Given the description of an element on the screen output the (x, y) to click on. 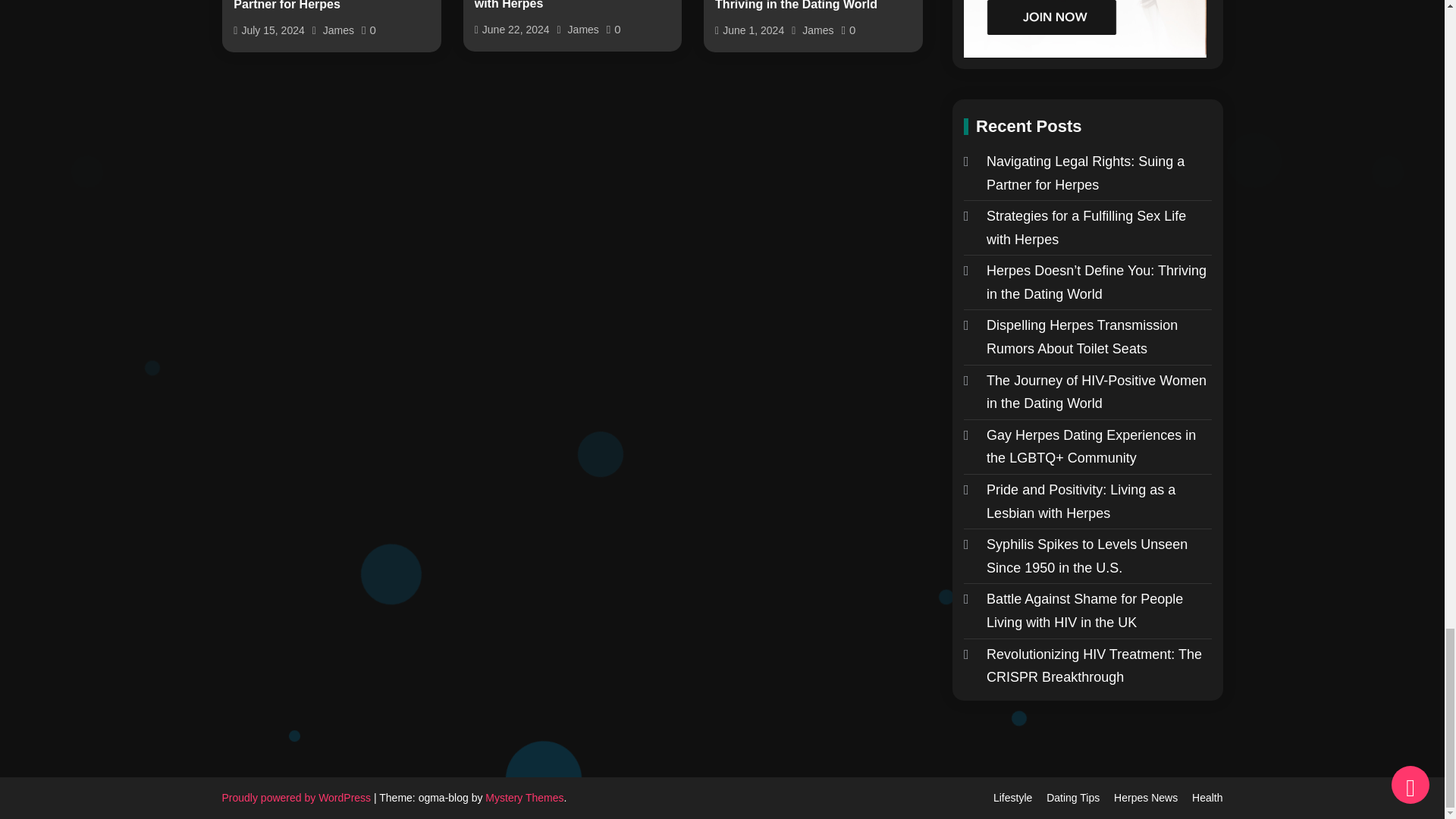
James (338, 30)
June 1, 2024 (753, 30)
James (817, 30)
Strategies for a Fulfilling Sex Life with Herpes (572, 6)
July 15, 2024 (272, 30)
James (582, 29)
Navigating Legal Rights: Suing a Partner for Herpes (330, 6)
June 22, 2024 (515, 29)
